Given the description of an element on the screen output the (x, y) to click on. 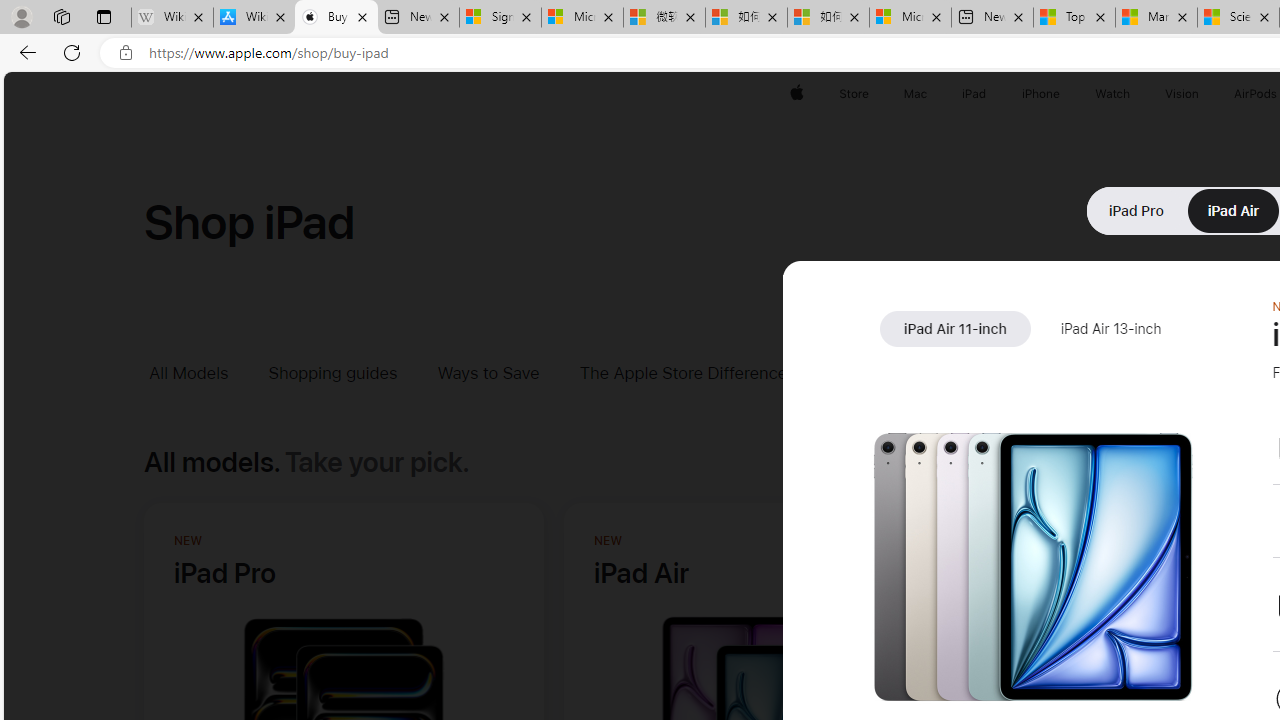
Top Stories - MSN (1074, 17)
Microsoft account | Account Checkup (910, 17)
Marine life - MSN (1156, 17)
Buy iPad - Apple (336, 17)
